Given the description of an element on the screen output the (x, y) to click on. 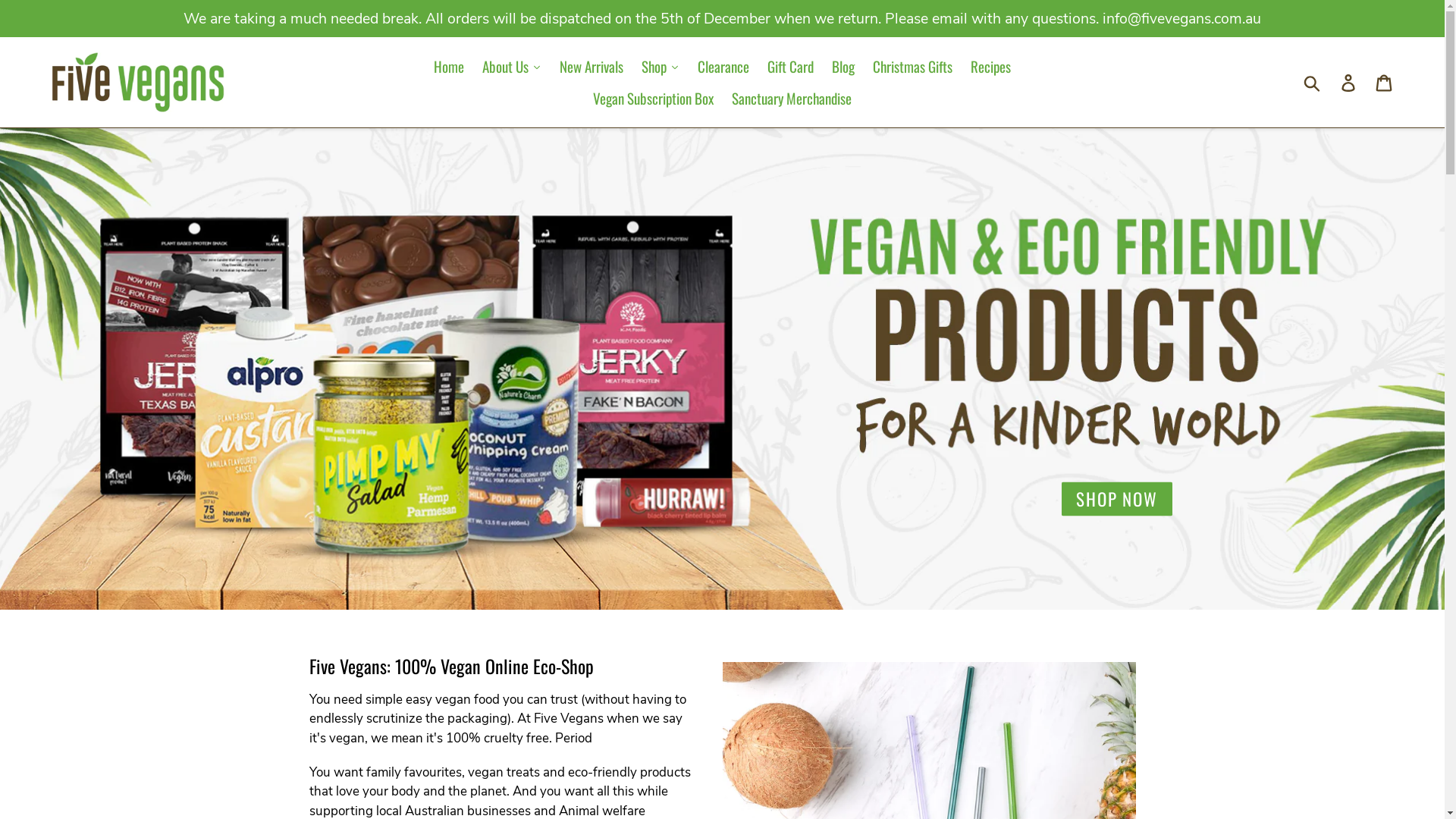
Gift Card Element type: text (790, 66)
Cart Element type: text (1384, 82)
Recipes Element type: text (990, 66)
Clearance Element type: text (723, 66)
Blog Element type: text (842, 66)
New Arrivals Element type: text (591, 66)
Sanctuary Merchandise Element type: text (791, 98)
Home Element type: text (448, 66)
Christmas Gifts Element type: text (912, 66)
Vegan Subscription Box Element type: text (652, 98)
Log in Element type: text (1349, 82)
SHOP NOW Element type: text (1116, 498)
Submit Element type: text (1312, 82)
About Us Element type: text (511, 66)
Shop Element type: text (660, 66)
